Given the description of an element on the screen output the (x, y) to click on. 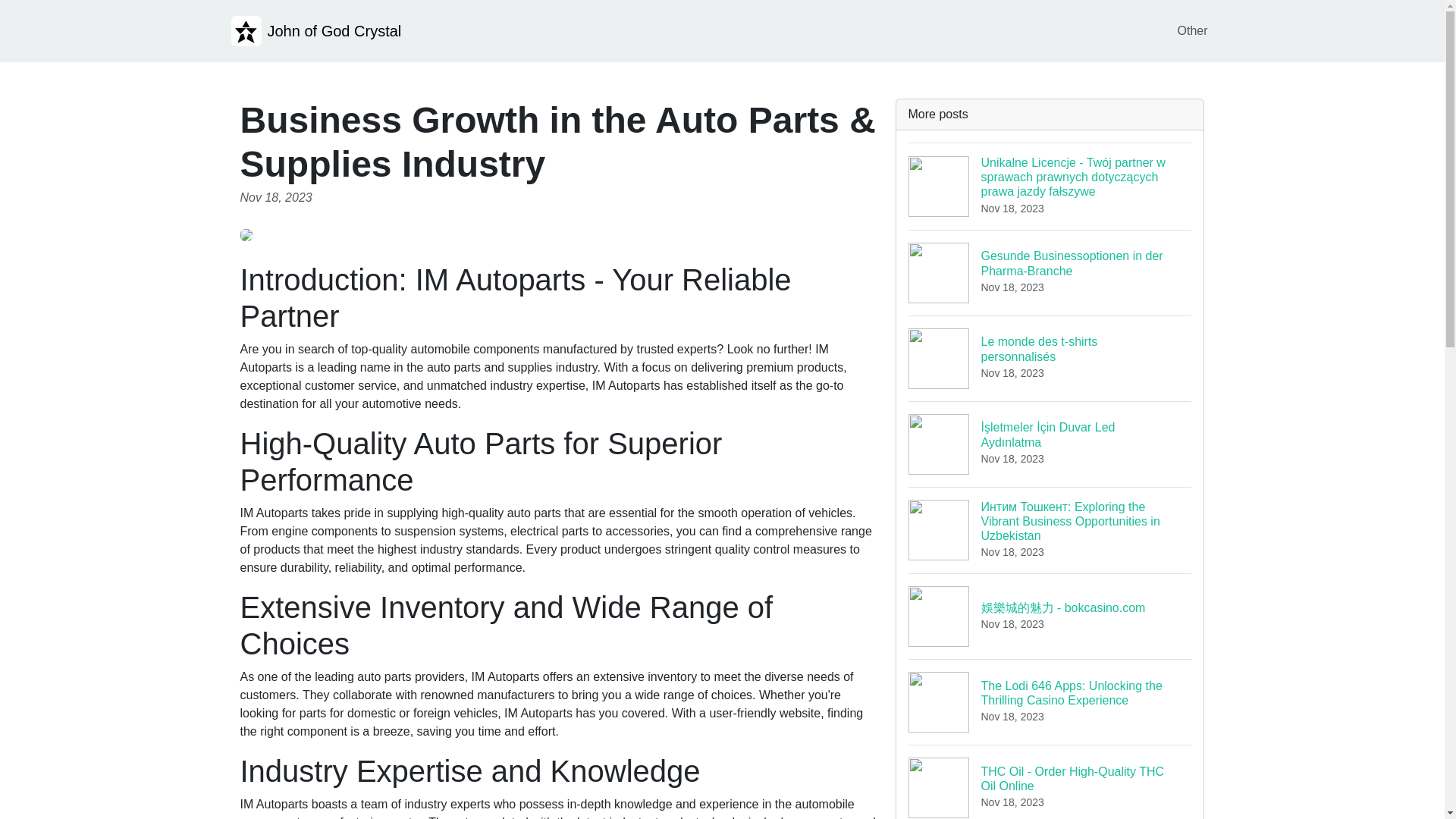
John of God Crystal (315, 30)
Other (1050, 781)
